Given the description of an element on the screen output the (x, y) to click on. 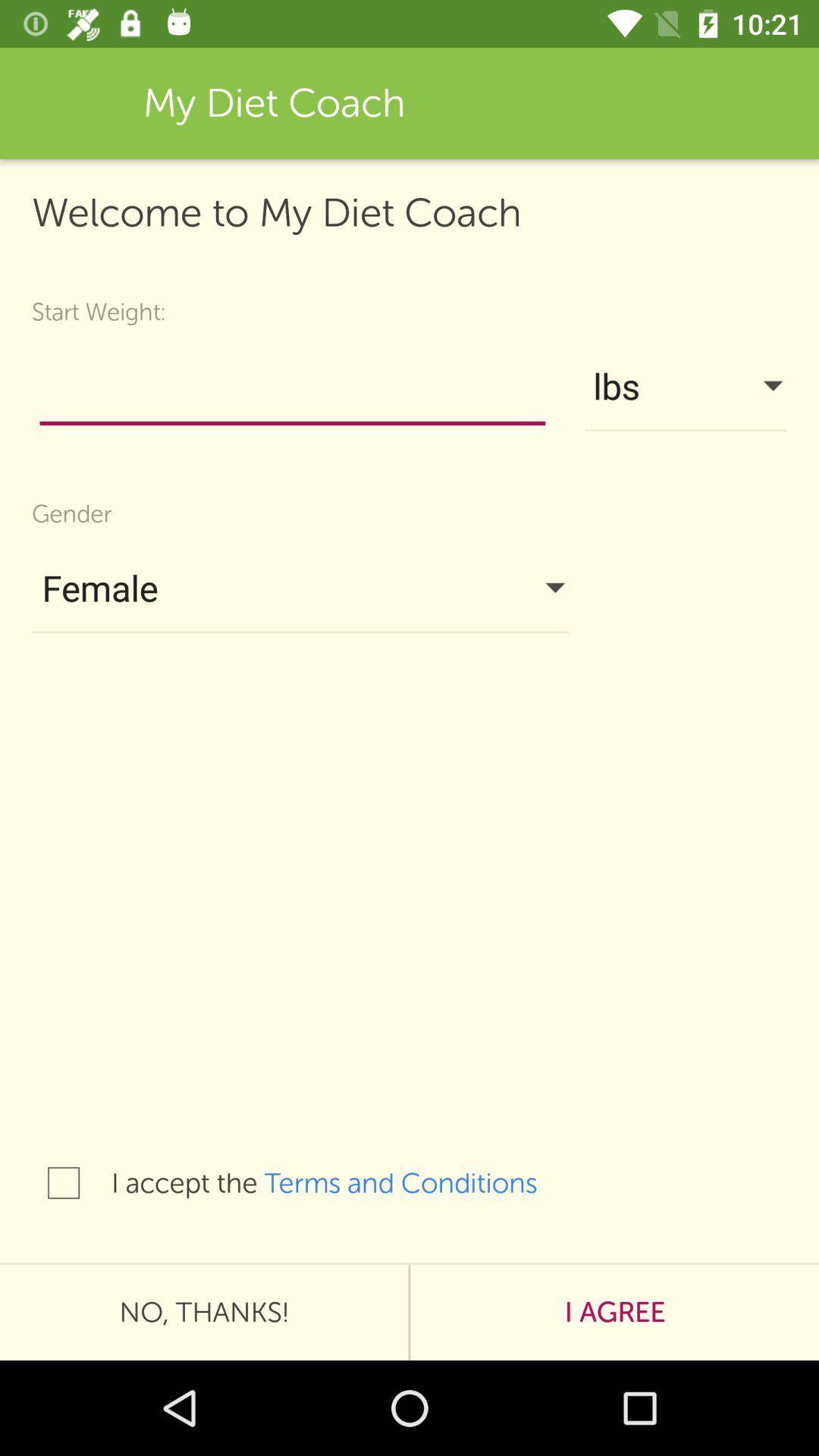
turn off the icon to the left of the lbs item (292, 389)
